Given the description of an element on the screen output the (x, y) to click on. 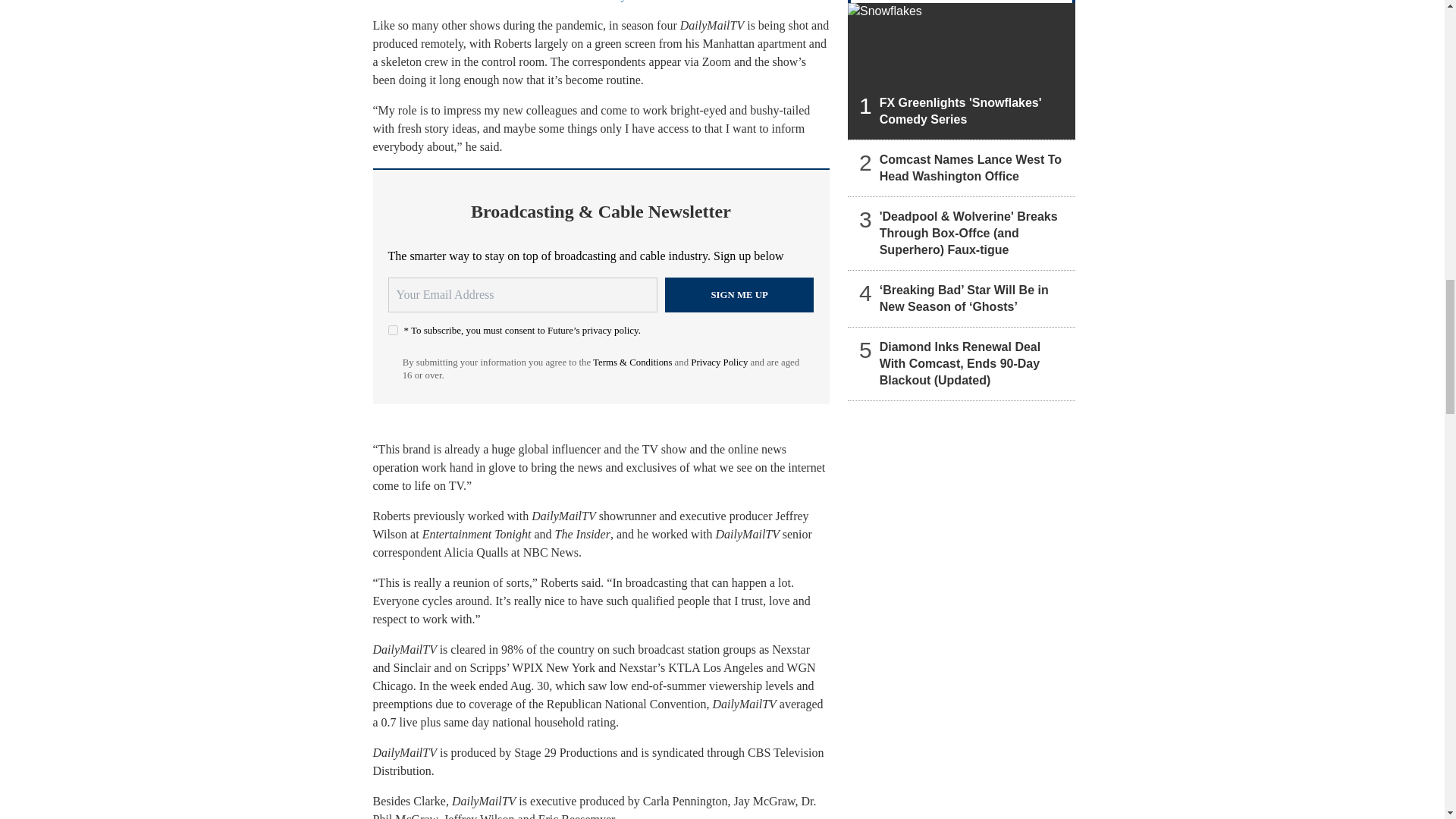
FX Greenlights 'Snowflakes' Comedy Series  (961, 71)
on (392, 329)
Sign me up (739, 294)
Sign me up (739, 294)
